Given the description of an element on the screen output the (x, y) to click on. 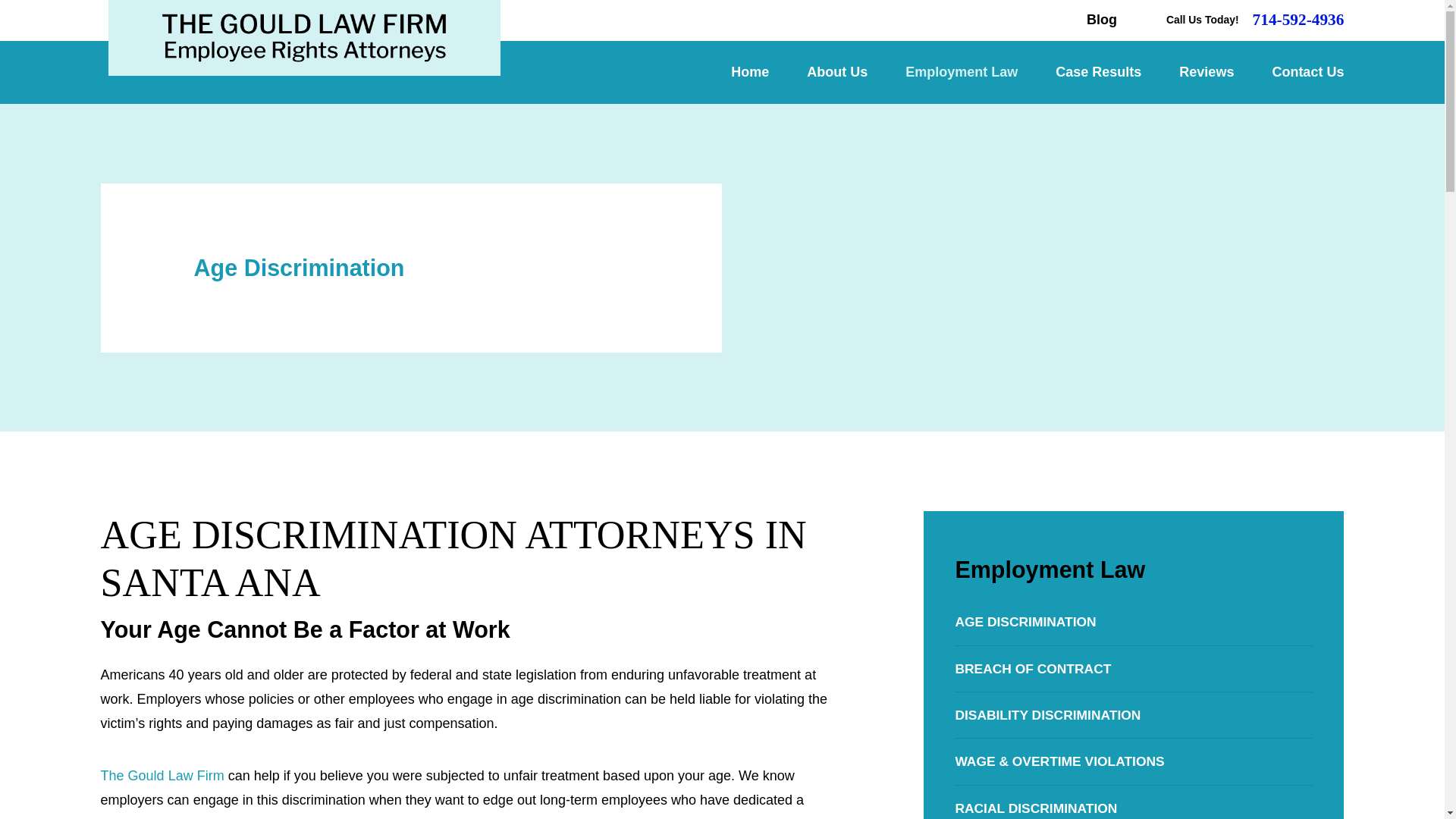
Blog (1101, 19)
Contact Us (1307, 72)
Case Results (1098, 72)
Home (303, 37)
About Us (836, 72)
Home (749, 72)
714-592-4936 (1297, 19)
Employment Law (961, 72)
Reviews (1206, 72)
